Given the description of an element on the screen output the (x, y) to click on. 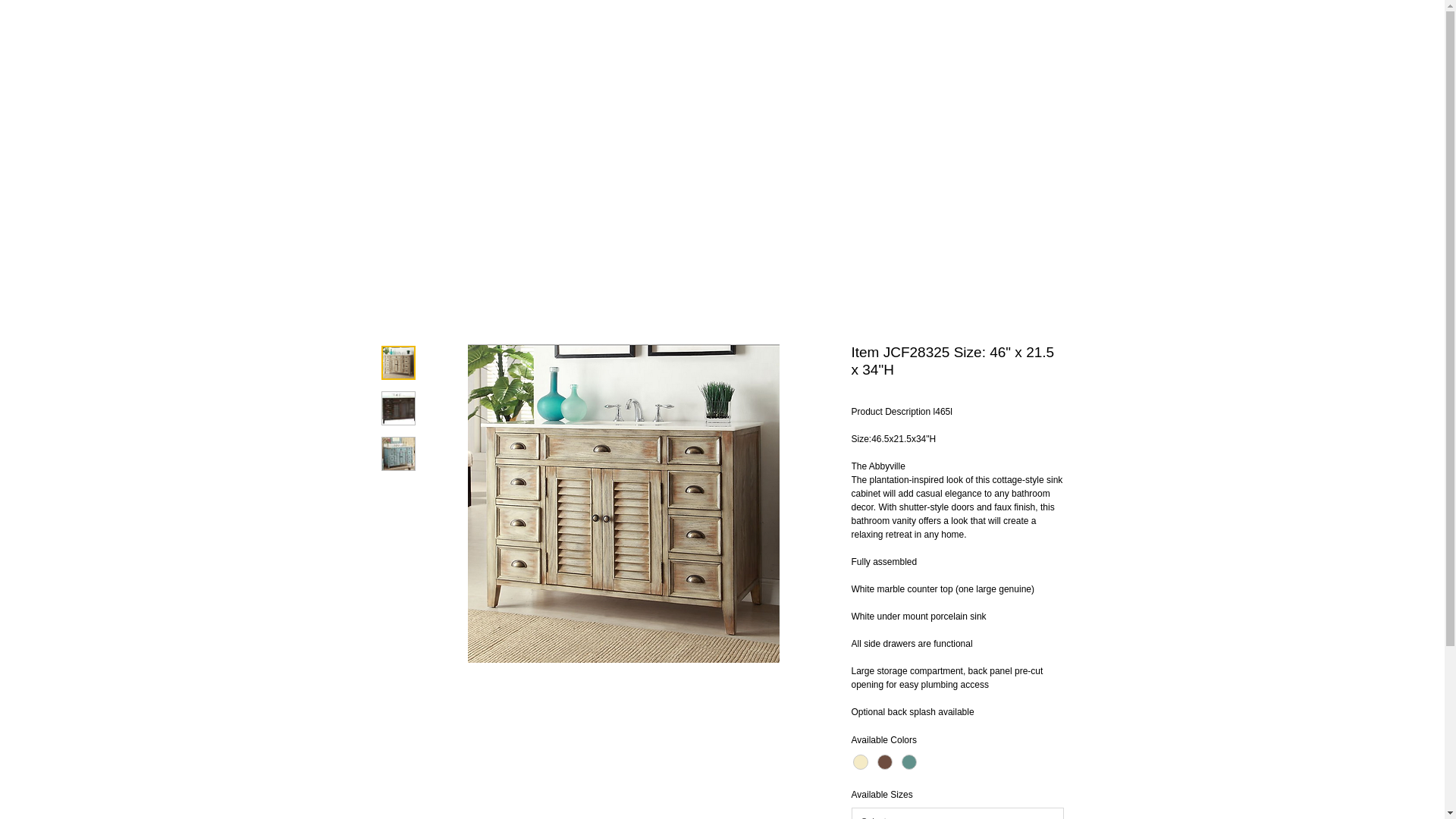
Select (956, 813)
